Given the description of an element on the screen output the (x, y) to click on. 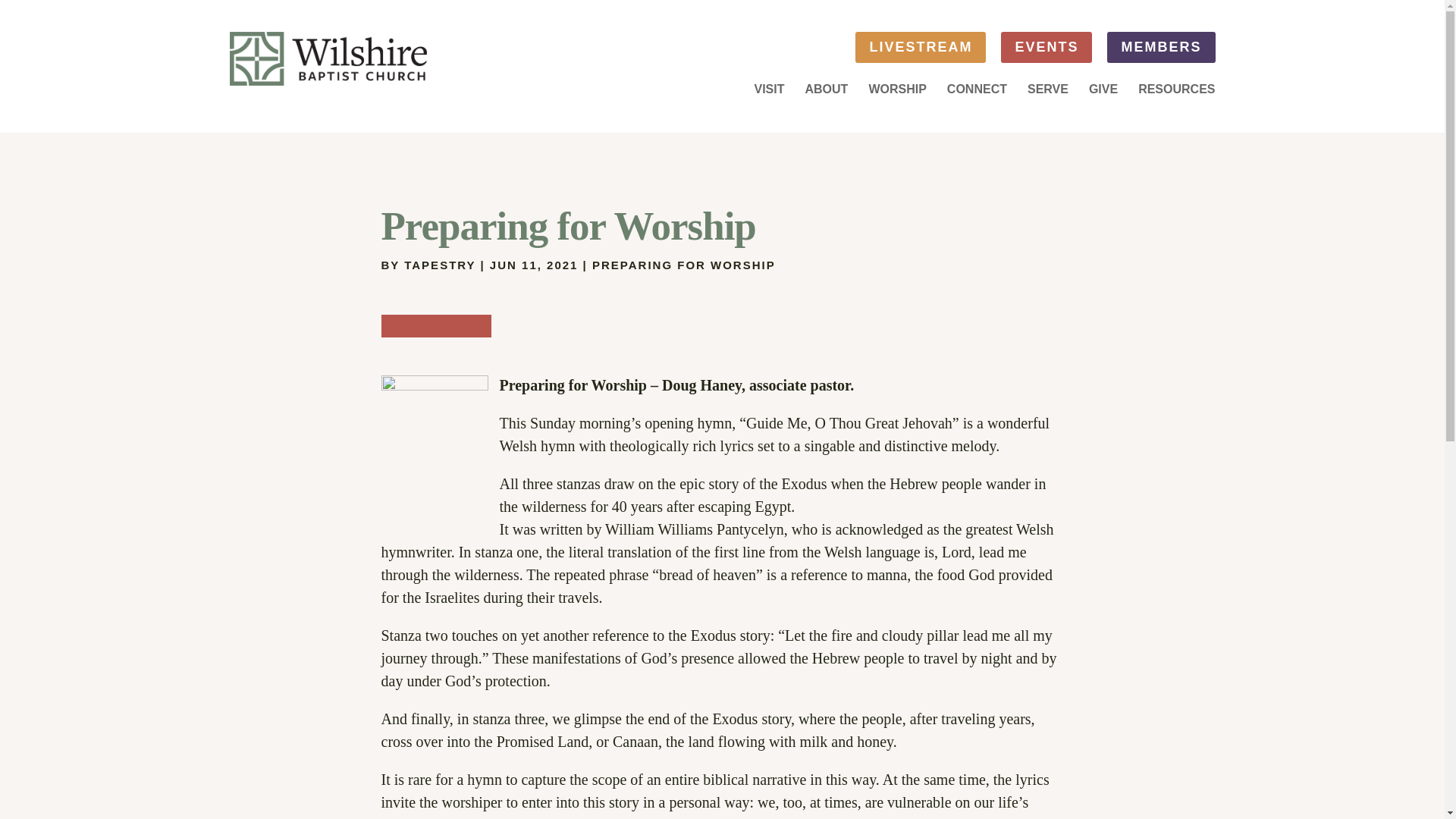
SERVE (1045, 92)
Posts by Tapestry (440, 264)
CONNECT (975, 92)
EVENTS (1046, 47)
MEMBERS (1160, 47)
WORSHIP (895, 92)
LIVESTREAM (920, 47)
ABOUT (823, 92)
GIVE (1101, 92)
Wilshire Logo - full (327, 58)
